Given the description of an element on the screen output the (x, y) to click on. 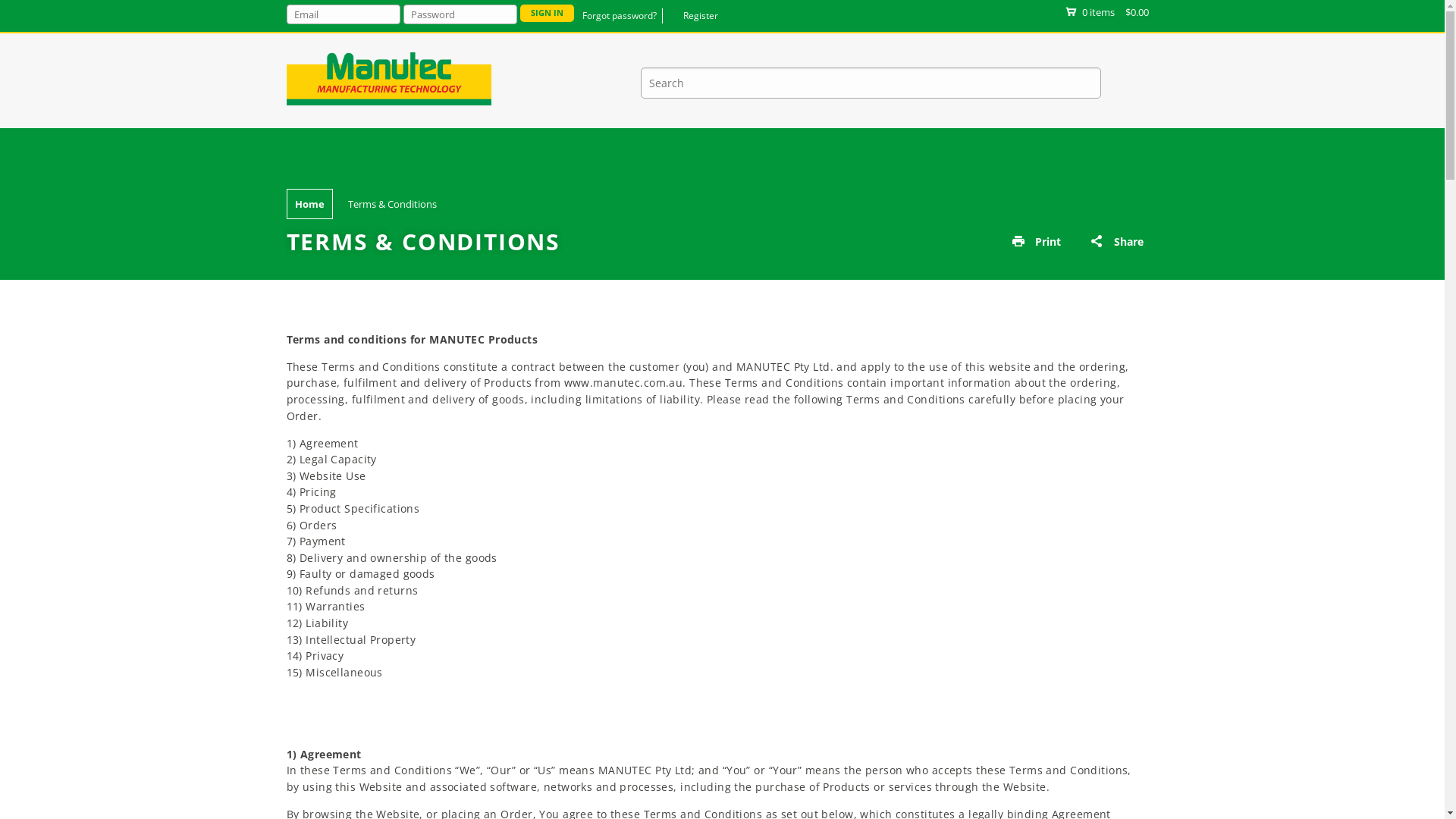
13) Intellectual Property Element type: text (351, 639)
14) Privacy Element type: text (315, 655)
5) Product Specifications Element type: text (353, 508)
12) Liability Element type: text (317, 622)
3) Website Use Element type: text (326, 475)
9) Faulty or damaged goods Element type: text (360, 573)
Home Element type: text (309, 203)
10) Refunds and returns Element type: text (352, 590)
Share Element type: text (1127, 241)
Register Element type: text (703, 15)
8) Delivery and ownership of the goods Element type: text (391, 557)
Forgot password? Element type: text (622, 15)
6) Orders Element type: text (311, 524)
Print Element type: text (1047, 241)
4) Pricing Element type: text (311, 491)
1) Agreement Element type: text (322, 443)
15) Miscellaneous Element type: text (334, 672)
11) Warranties Element type: text (325, 606)
2) Legal Capacity Element type: text (331, 458)
7) Payment Element type: text (315, 540)
Sign in Element type: text (547, 12)
